Given the description of an element on the screen output the (x, y) to click on. 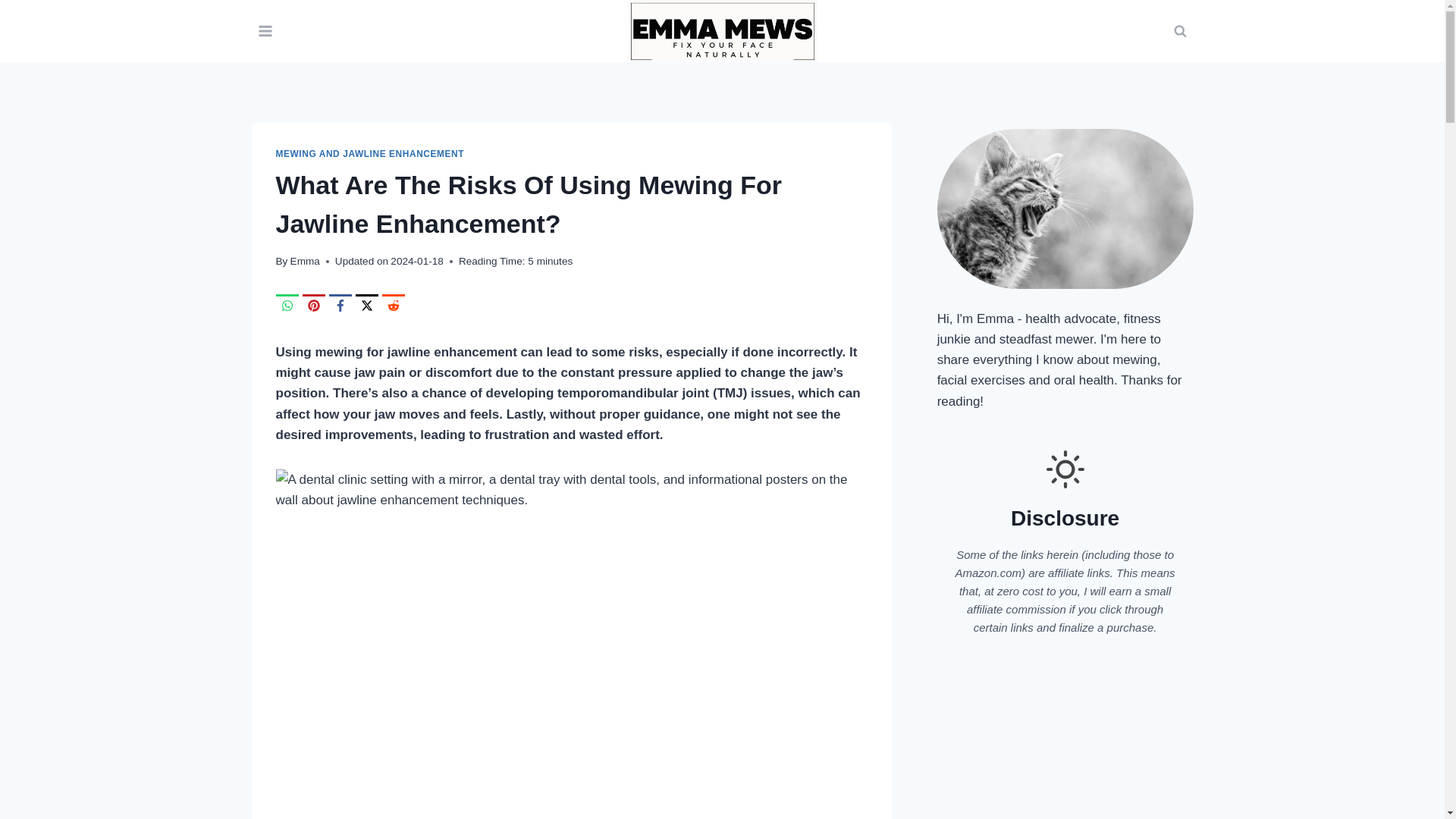
Emma (304, 260)
MEWING AND JAWLINE ENHANCEMENT (370, 153)
